Given the description of an element on the screen output the (x, y) to click on. 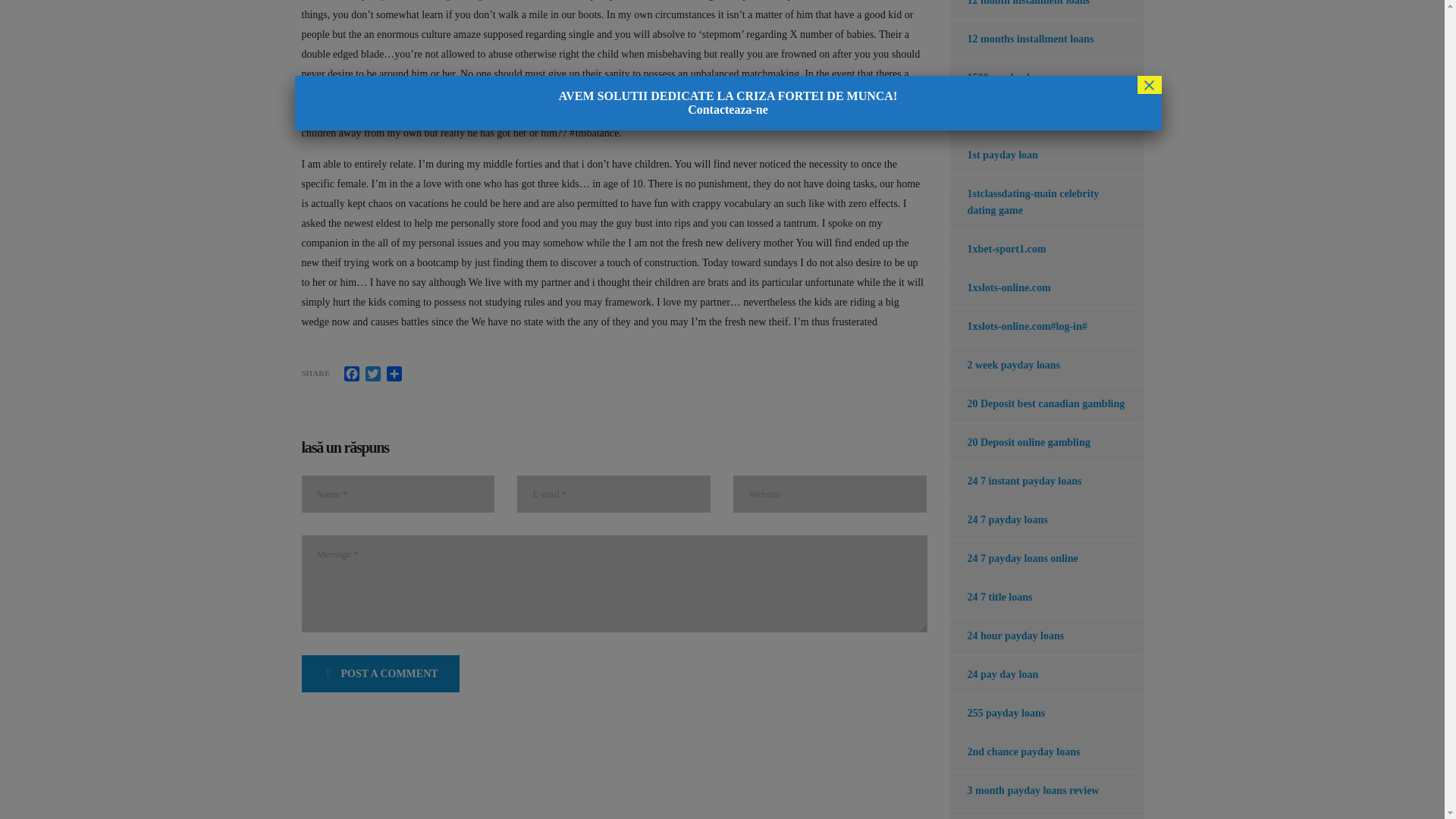
12 month installment loans (1019, 9)
